Given the description of an element on the screen output the (x, y) to click on. 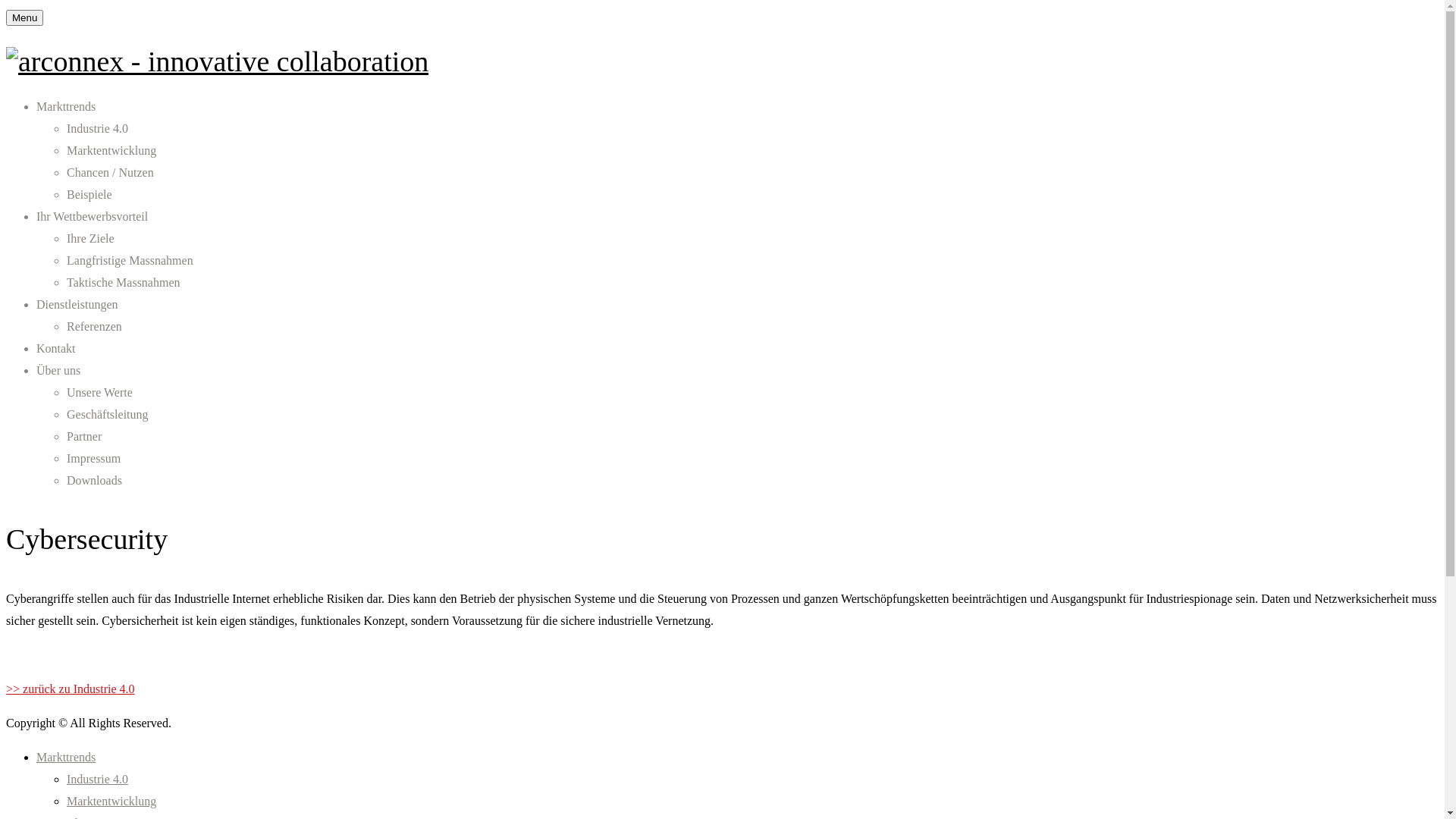
Marktentwicklung Element type: text (111, 150)
Dienstleistungen Element type: text (77, 304)
Impressum Element type: text (93, 457)
Kontakt Element type: text (55, 348)
Partner Element type: text (83, 435)
Referenzen Element type: text (94, 326)
Menu Element type: text (24, 17)
Ihre Ziele Element type: text (90, 238)
Downloads Element type: text (94, 479)
Markttrends Element type: text (65, 106)
Markttrends Element type: text (65, 756)
Chancen / Nutzen Element type: text (109, 172)
Beispiele Element type: text (89, 194)
Taktische Massnahmen Element type: text (123, 282)
Ihr Wettbewerbsvorteil Element type: text (91, 216)
Industrie 4.0 Element type: text (97, 778)
Unsere Werte Element type: text (99, 391)
Industrie 4.0 Element type: text (97, 128)
Langfristige Massnahmen Element type: text (129, 260)
Marktentwicklung Element type: text (111, 800)
